Given the description of an element on the screen output the (x, y) to click on. 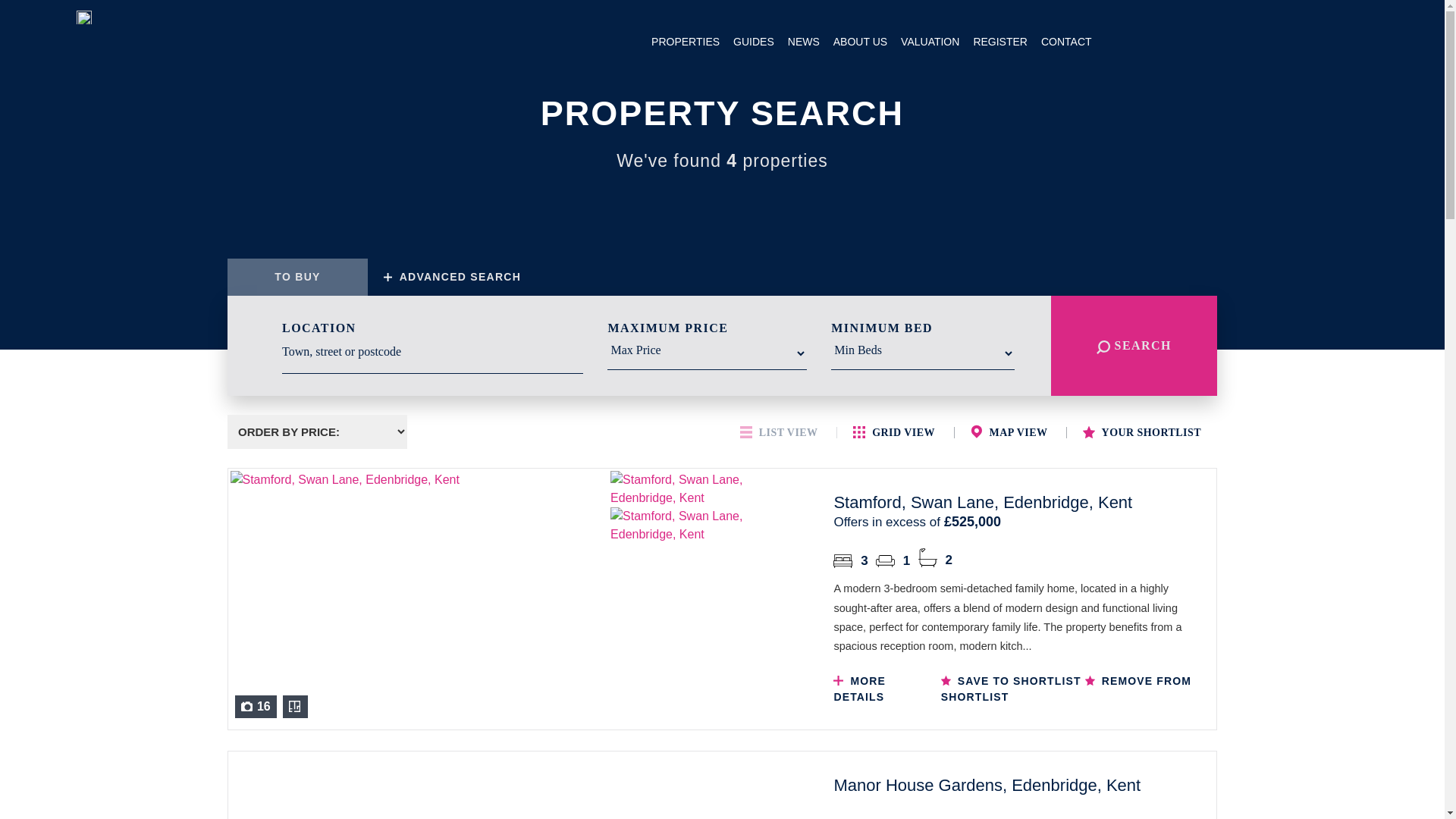
EXPERT VALUATION (1325, 40)
ADVANCED SEARCH (449, 276)
SEARCH (1134, 345)
SEARCH (1168, 40)
TO BUY (297, 276)
YOUR SHORTLIST (1142, 432)
LIST VIEW (780, 432)
VALUATION (929, 40)
MORE DETAILS (873, 689)
PROPERTIES (685, 40)
